Given the description of an element on the screen output the (x, y) to click on. 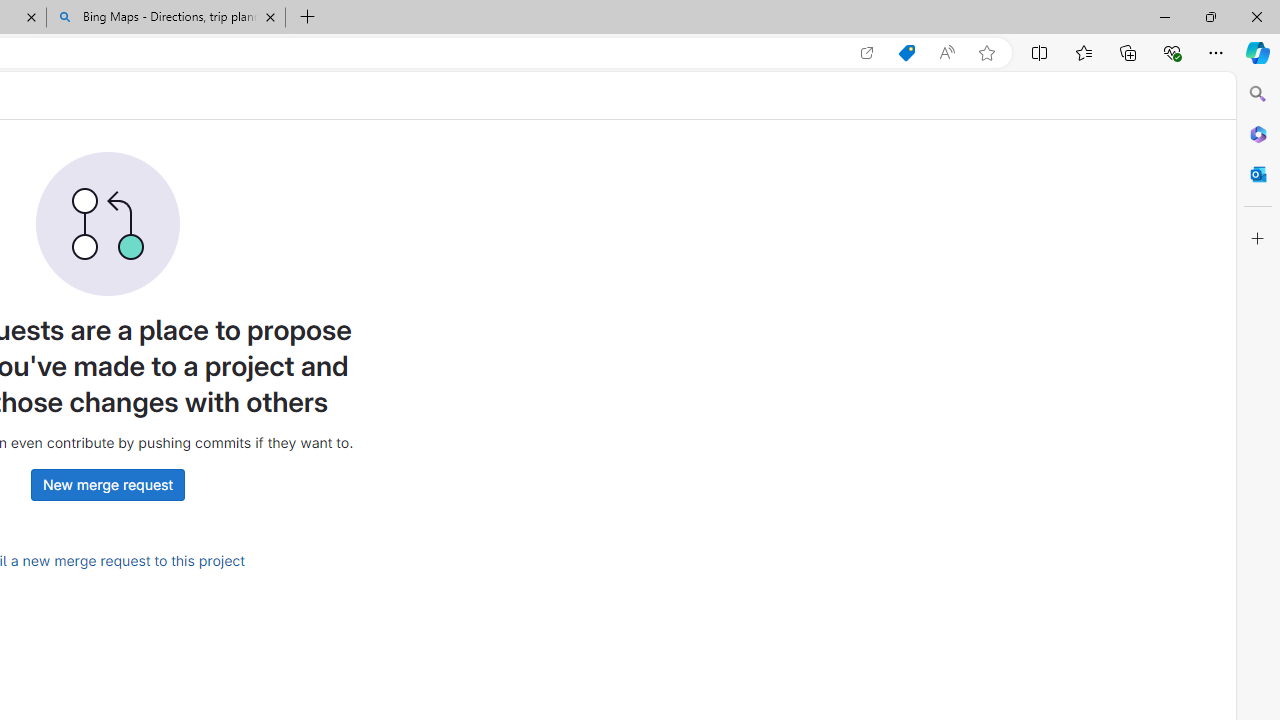
New merge request (107, 484)
Open in app (867, 53)
